Given the description of an element on the screen output the (x, y) to click on. 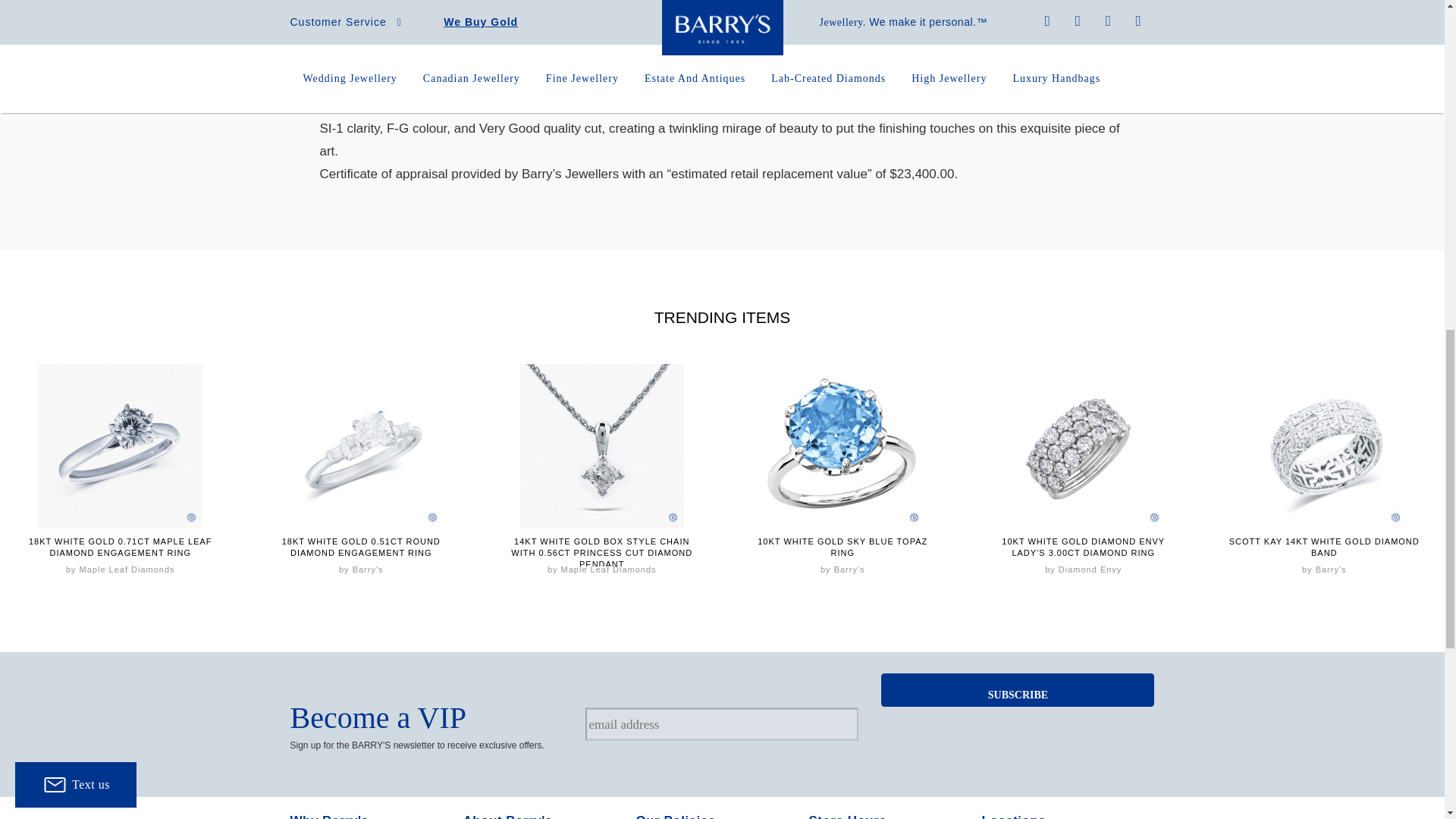
Subscribe (1017, 689)
